Given the description of an element on the screen output the (x, y) to click on. 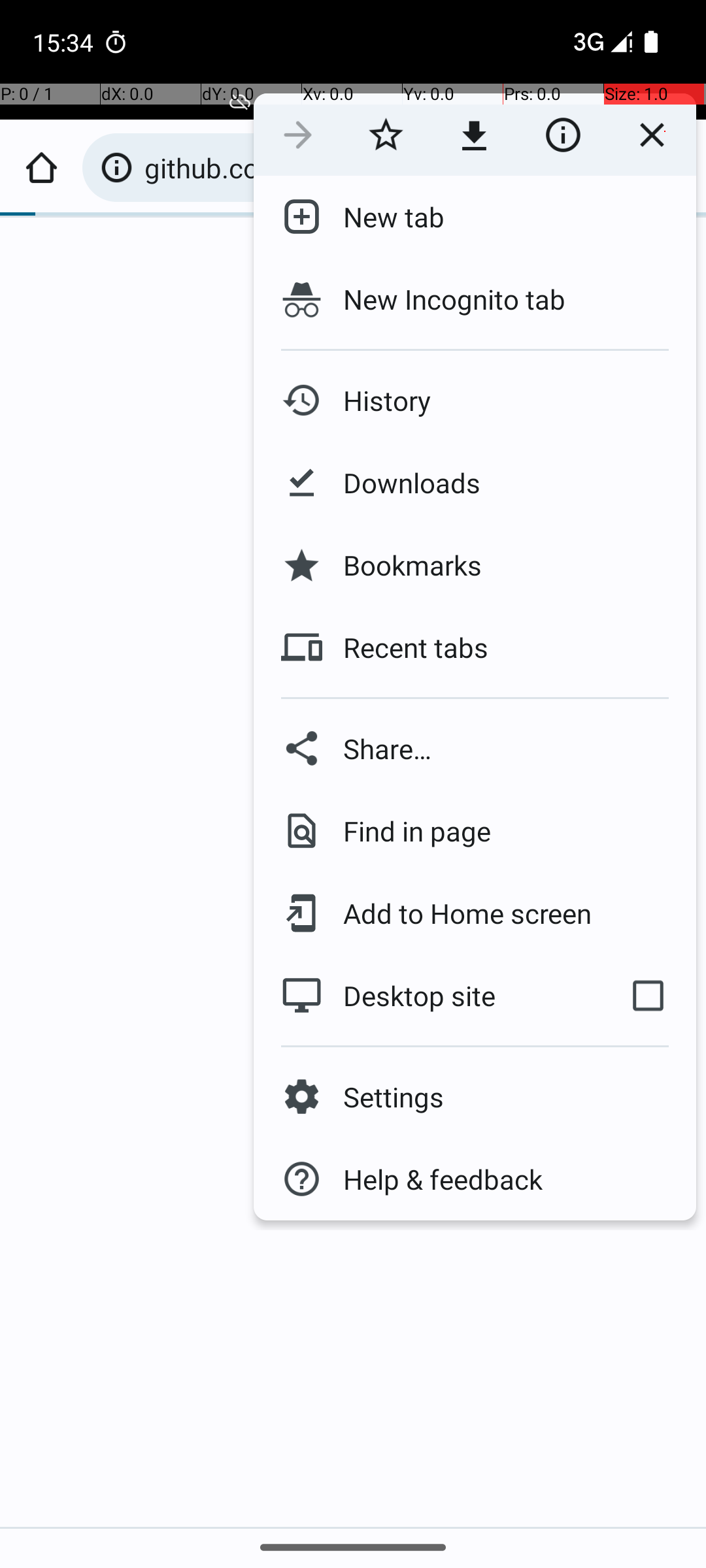
Forward Element type: android.widget.ImageButton (297, 134)
Bookmark Element type: android.widget.ImageButton (385, 134)
Page info Element type: android.widget.ImageButton (562, 134)
Stop refreshing Element type: android.widget.ImageButton (651, 134)
Bookmarks Element type: android.widget.TextView (401, 564)
Recent tabs Element type: android.widget.TextView (405, 647)
Share… Element type: android.widget.TextView (474, 748)
Add to Home screen Element type: android.widget.TextView (457, 913)
